Given the description of an element on the screen output the (x, y) to click on. 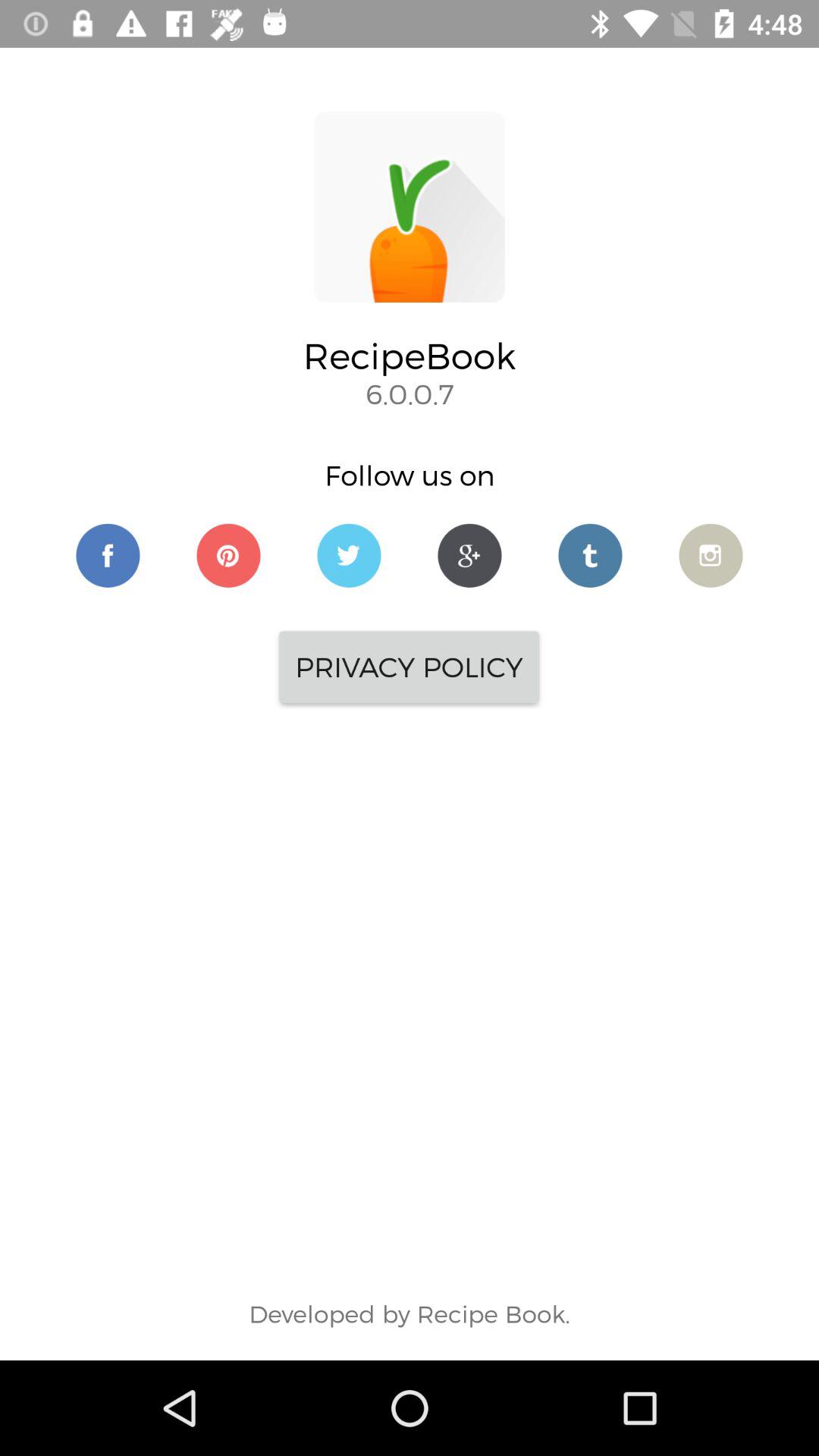
toggle facebook (107, 555)
